Given the description of an element on the screen output the (x, y) to click on. 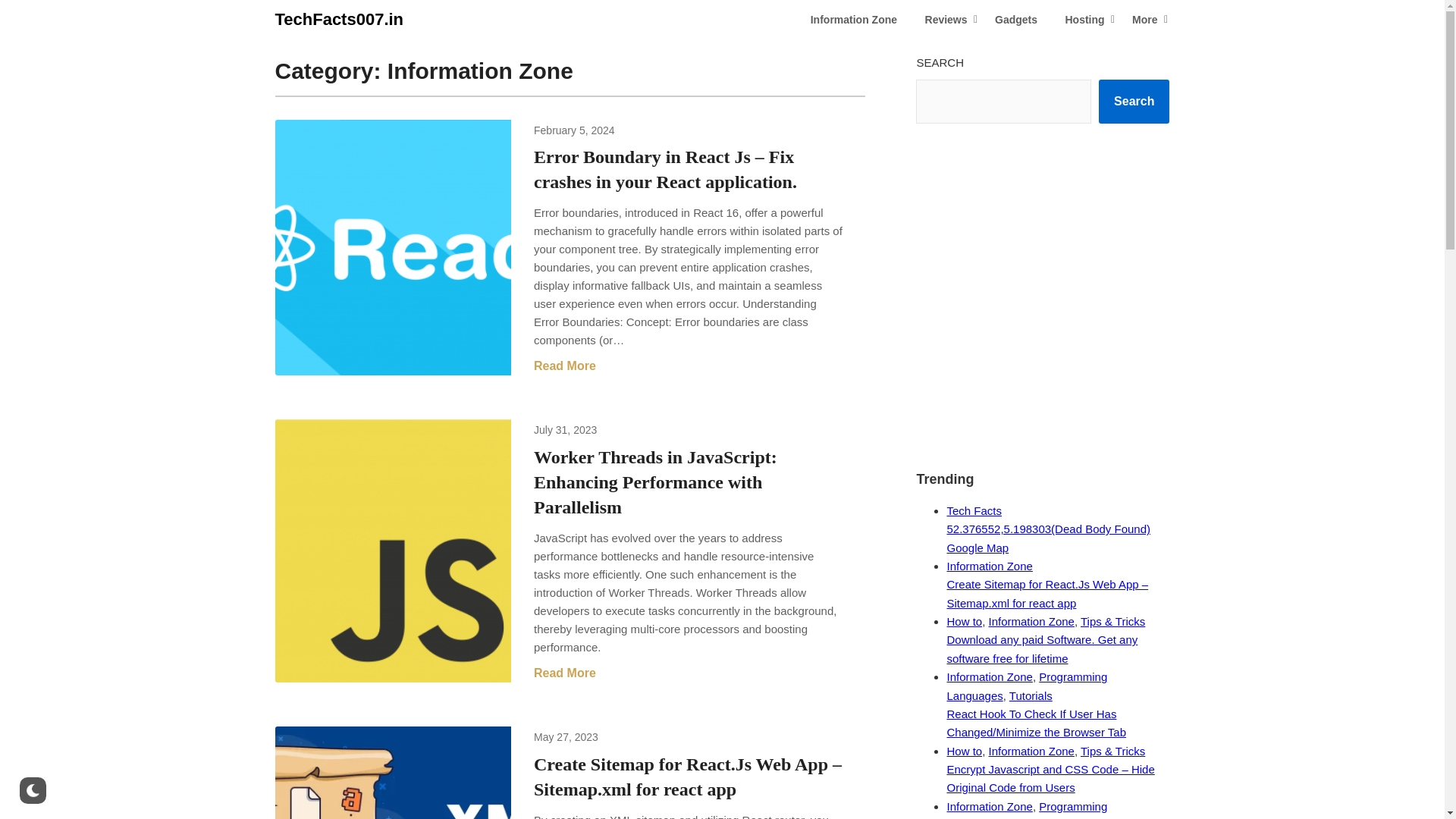
Read More (564, 673)
Advertisement (1042, 335)
Read More (564, 366)
Reviews (945, 20)
TechFacts007.in (339, 19)
Information Zone (852, 20)
Gadgets (1015, 20)
July 31, 2023 (565, 429)
Hosting (1084, 20)
